Given the description of an element on the screen output the (x, y) to click on. 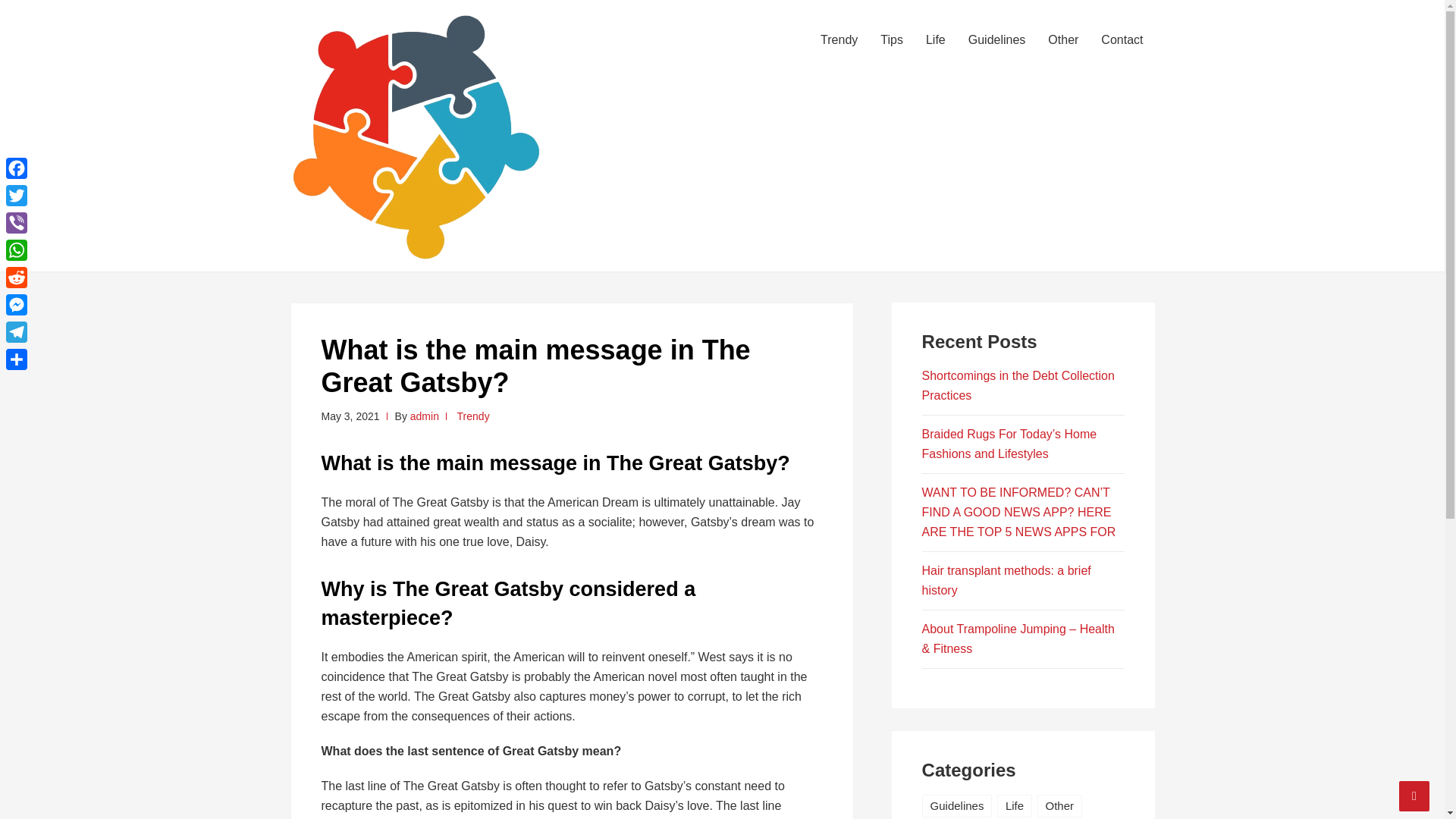
Messenger (16, 304)
Twitter (16, 195)
Telegram (16, 331)
Trendy (839, 39)
Twitter (16, 195)
Other (1059, 805)
Facebook (16, 167)
Facebook (16, 167)
Viber (16, 222)
Reddit (16, 277)
WhatsApp (16, 249)
Hair transplant methods: a brief history (1005, 580)
Life (1014, 805)
Viber (16, 222)
Other (1062, 39)
